Given the description of an element on the screen output the (x, y) to click on. 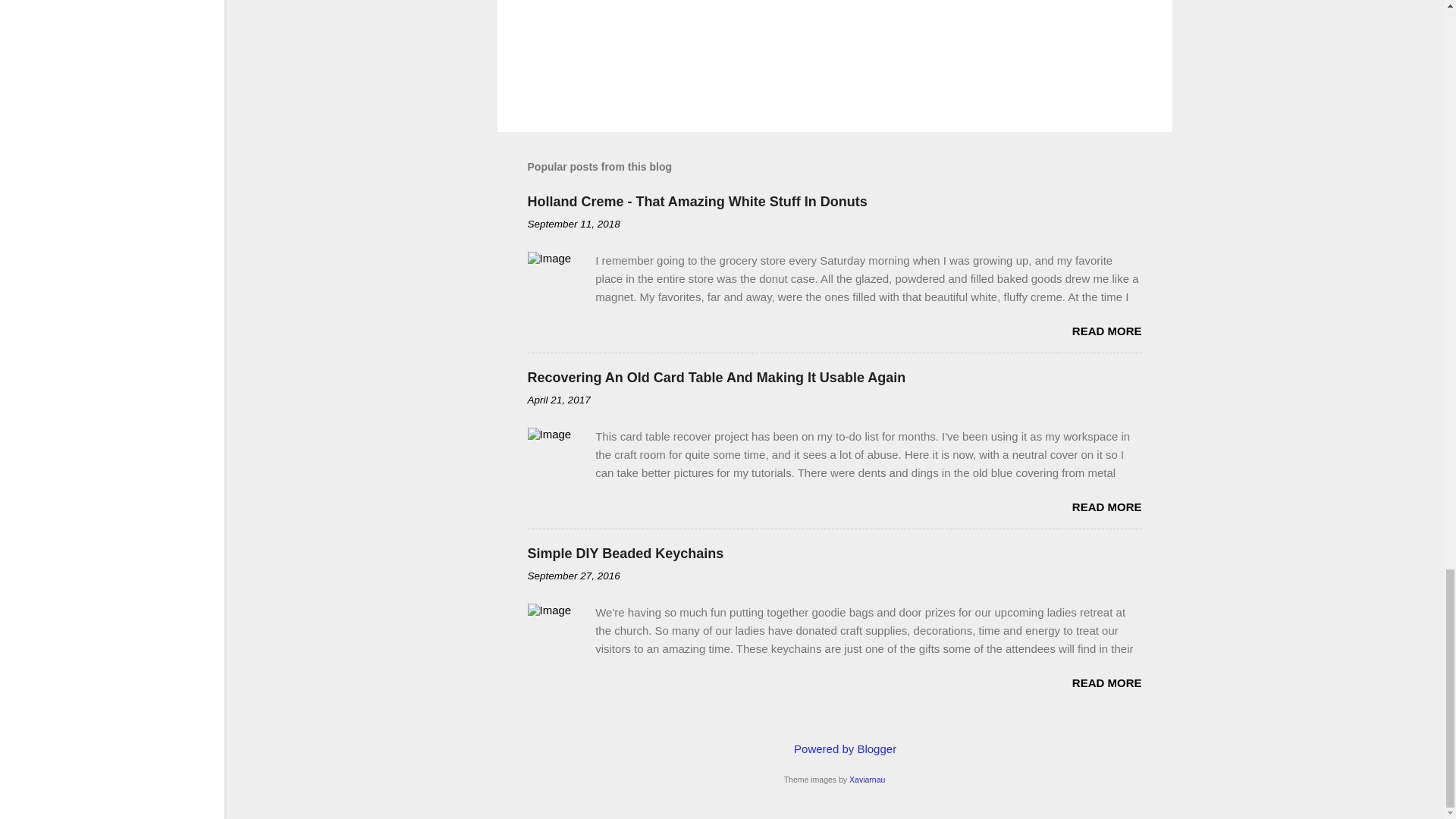
permanent link (573, 224)
READ MORE (1106, 330)
READ MORE (1106, 506)
Xaviarnau (866, 778)
Simple DIY Beaded Keychains (625, 553)
September 27, 2016 (573, 575)
Recovering An Old Card Table And Making It Usable Again (716, 377)
READ MORE (1106, 682)
Holland Creme - That Amazing White Stuff In Donuts (697, 201)
Powered by Blogger (834, 748)
September 11, 2018 (573, 224)
April 21, 2017 (559, 399)
